Given the description of an element on the screen output the (x, y) to click on. 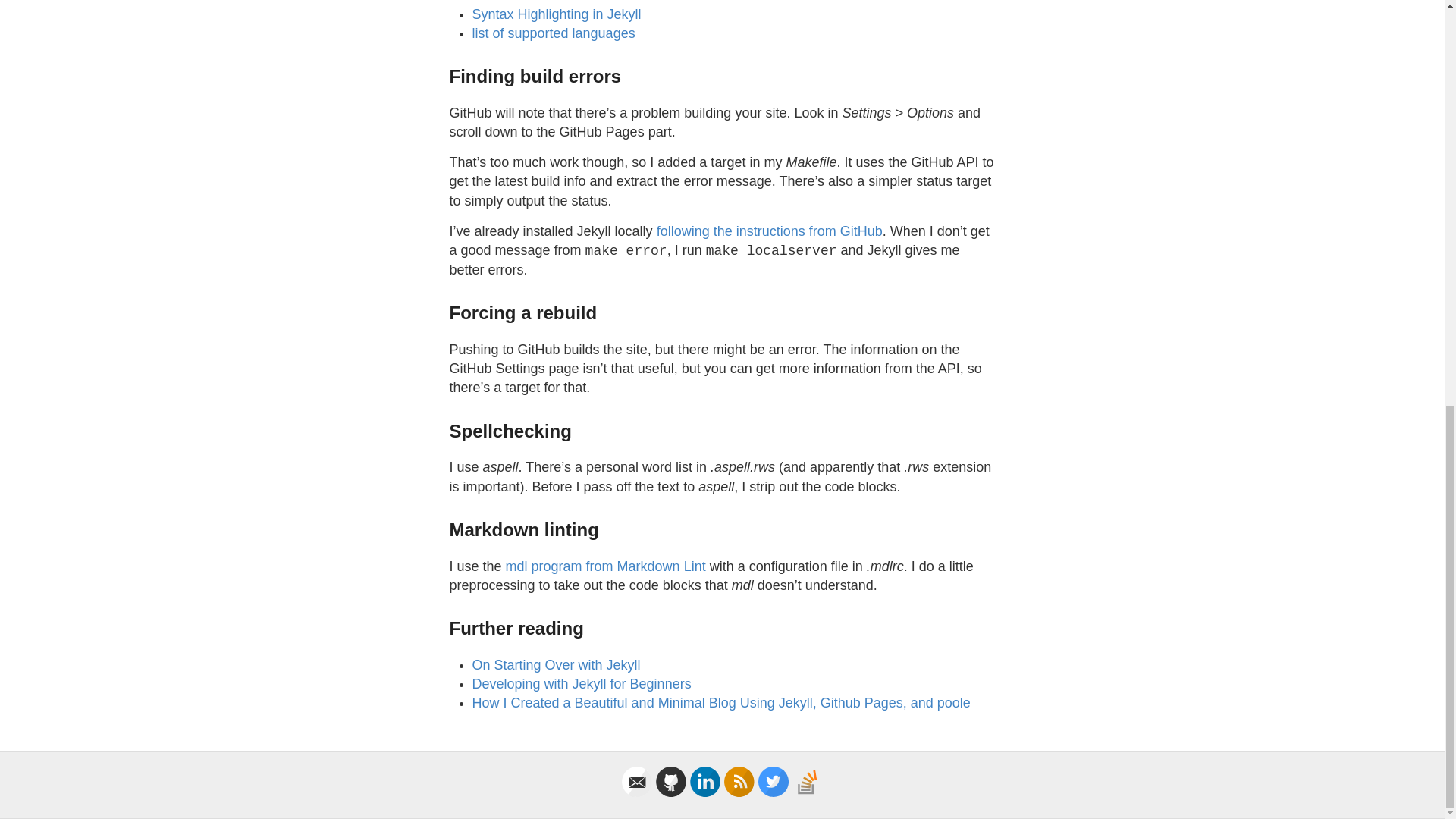
mdl program from Markdown Lint (605, 566)
following the instructions from GitHub (769, 231)
On Starting Over with Jekyll (555, 664)
list of supported languages (552, 32)
Developing with Jekyll for Beginners (580, 683)
Syntax Highlighting in Jekyll (555, 14)
